Given the description of an element on the screen output the (x, y) to click on. 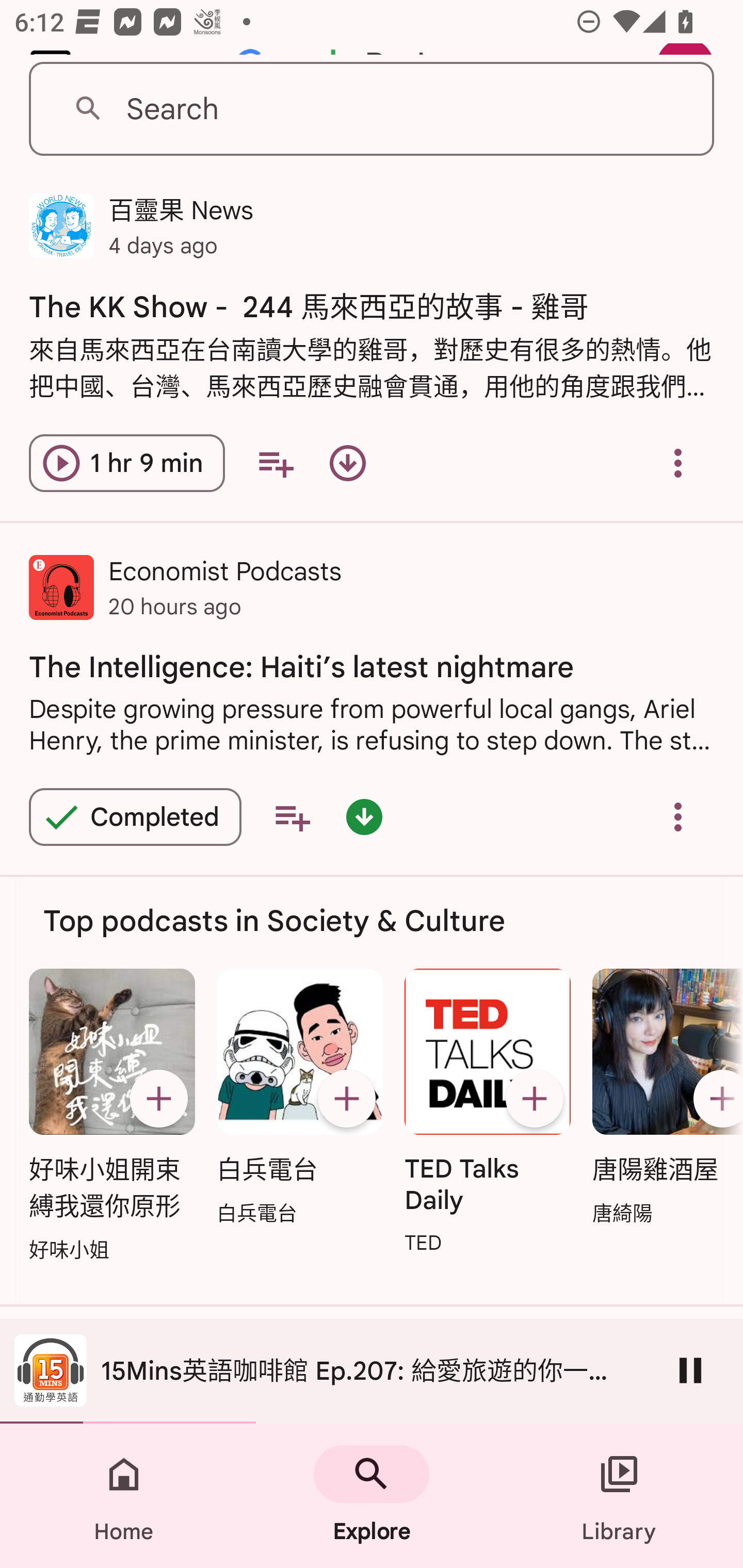
Search (371, 108)
Add to your queue (275, 463)
Download episode (347, 463)
Overflow menu (677, 463)
Add to your queue (291, 816)
Episode downloaded - double tap for options (364, 816)
Overflow menu (677, 816)
好味小姐開束縛我還你原形 Subscribe 好味小姐開束縛我還你原形 好味小姐 (111, 1116)
白兵電台 Subscribe 白兵電台 白兵電台 (299, 1098)
TED Talks Daily Subscribe TED Talks Daily TED (487, 1113)
唐陽雞酒屋 Subscribe 唐陽雞酒屋 唐綺陽 (662, 1098)
Subscribe (158, 1099)
Subscribe (346, 1099)
Subscribe (534, 1099)
Subscribe (714, 1099)
Pause (690, 1370)
Home (123, 1495)
Library (619, 1495)
